Given the description of an element on the screen output the (x, y) to click on. 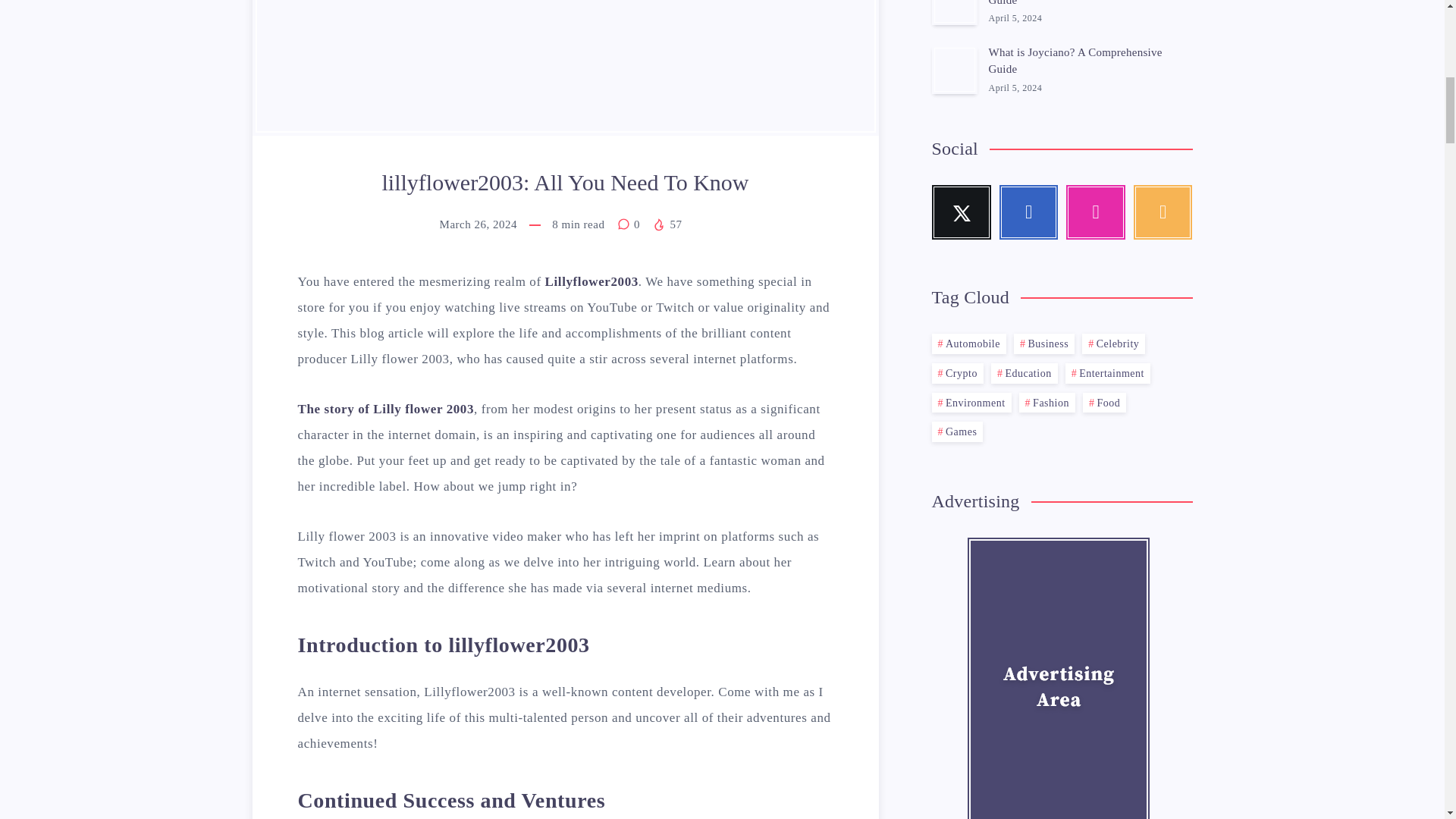
0 Comments (630, 224)
lillyflower2003: All You Need To Know 1 (564, 67)
0 (630, 224)
57 Views (666, 224)
